Given the description of an element on the screen output the (x, y) to click on. 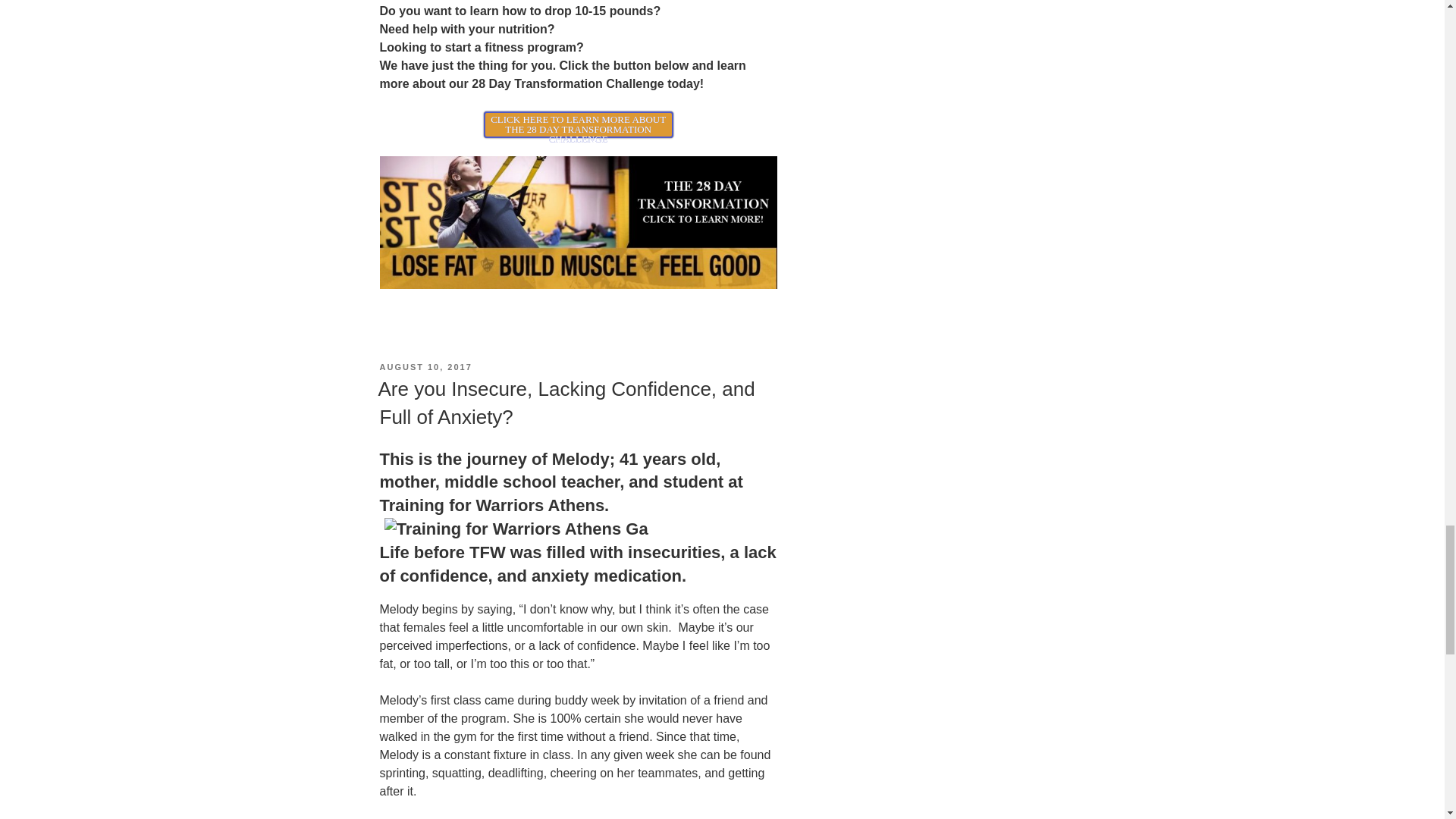
Are you Insecure, Lacking Confidence, and Full of Anxiety? (565, 402)
AUGUST 10, 2017 (424, 366)
